Given the description of an element on the screen output the (x, y) to click on. 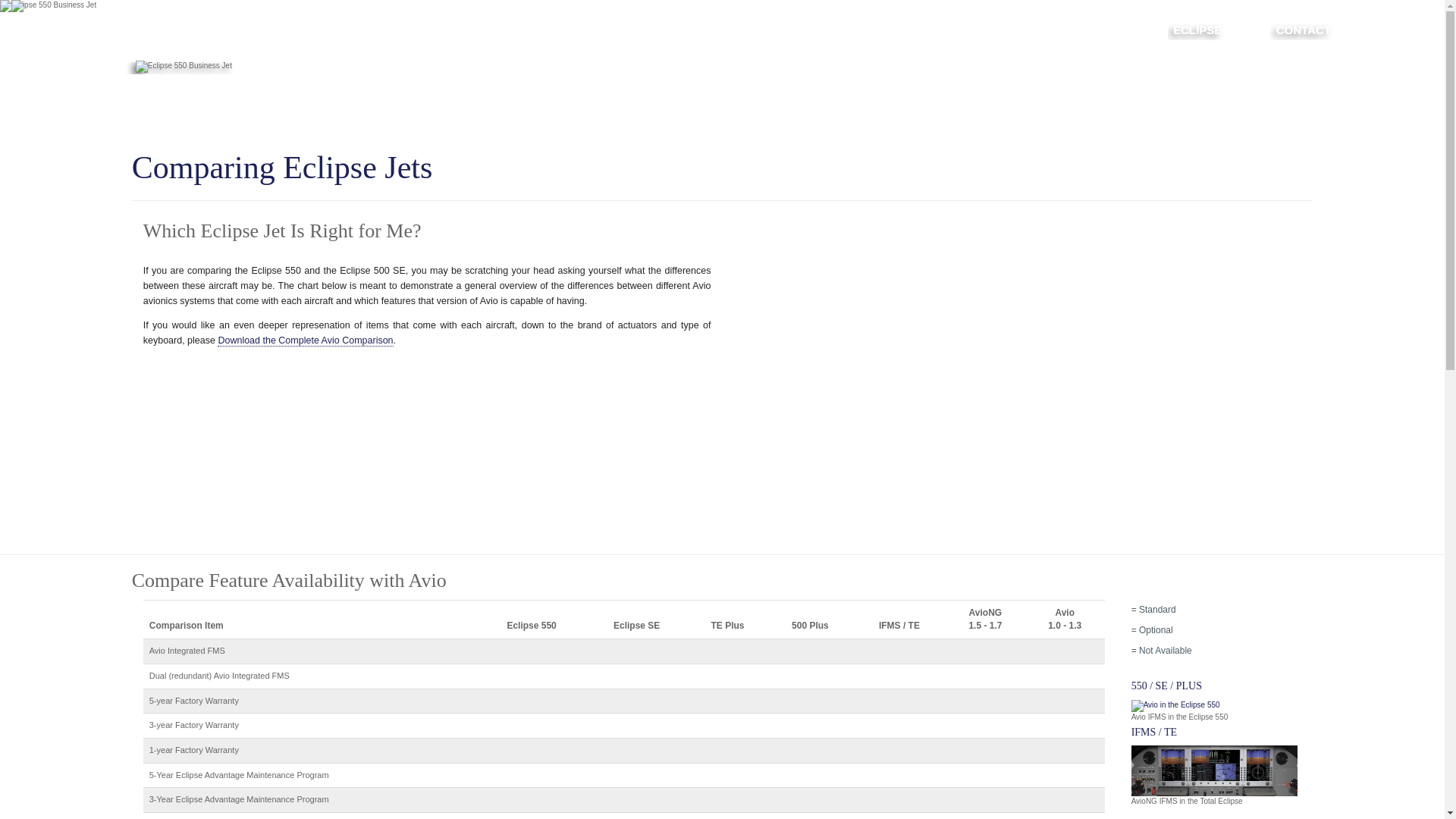
MENU (1390, 29)
ECLIPSE (1197, 29)
The Eclipse 550 Twin-Engine Jet (48, 6)
CONTACT (1303, 29)
Download the Complete Avio Comparison (304, 340)
The Eclipse 550 Twin-Engine Jet (229, 66)
